Given the description of an element on the screen output the (x, y) to click on. 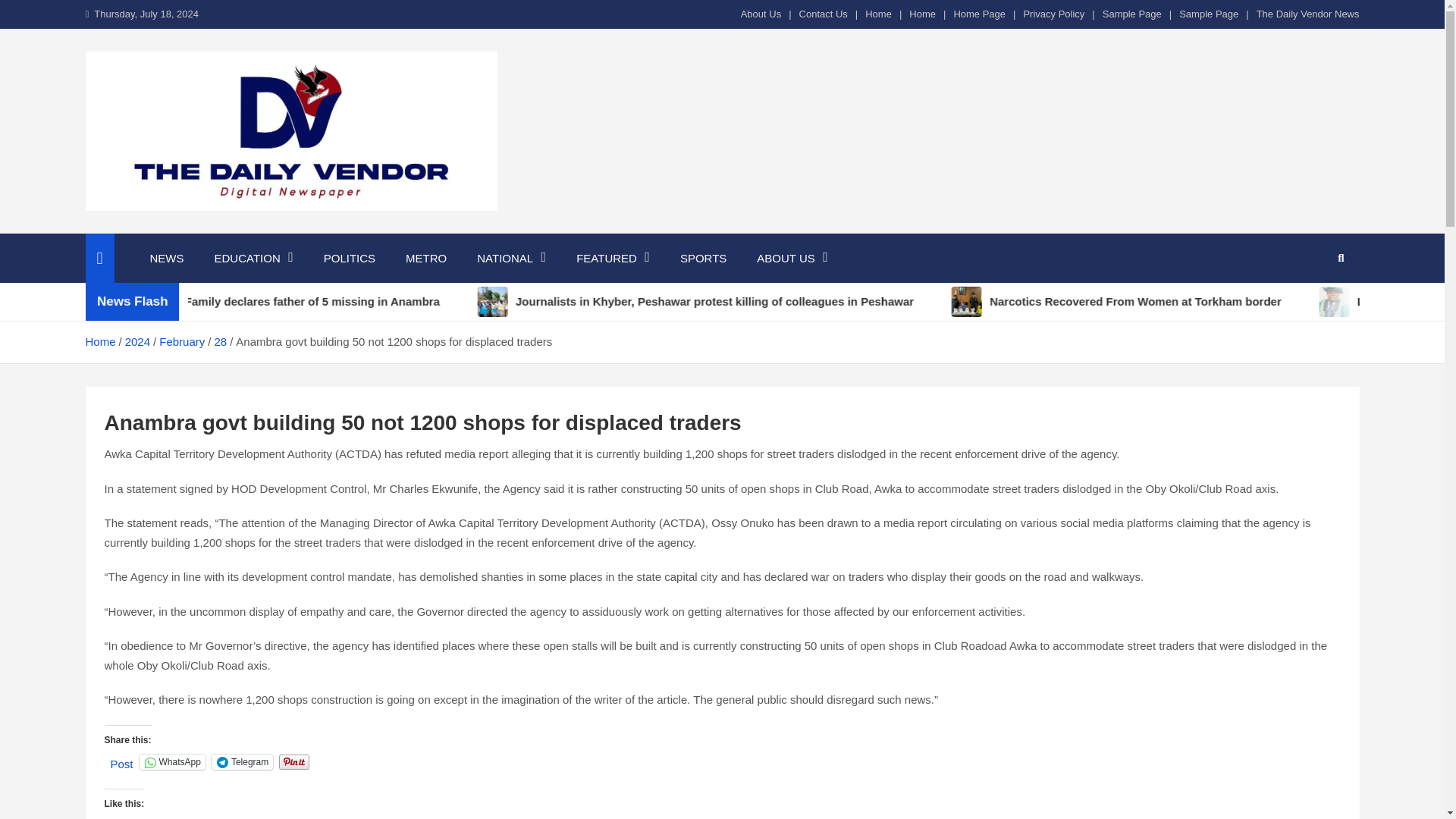
Click to share on Telegram (242, 761)
Home (922, 13)
Home (877, 13)
NEWS (167, 258)
Sample Page (1131, 13)
The Daily Vendor (207, 230)
FEATURED (612, 258)
Contact Us (823, 13)
The Daily Vendor News (1307, 13)
METRO (425, 258)
Sample Page (1209, 13)
ABOUT US (792, 258)
Click to share on WhatsApp (172, 761)
Family declares father of 5 missing in Anambra (323, 301)
EDUCATION (252, 258)
